Given the description of an element on the screen output the (x, y) to click on. 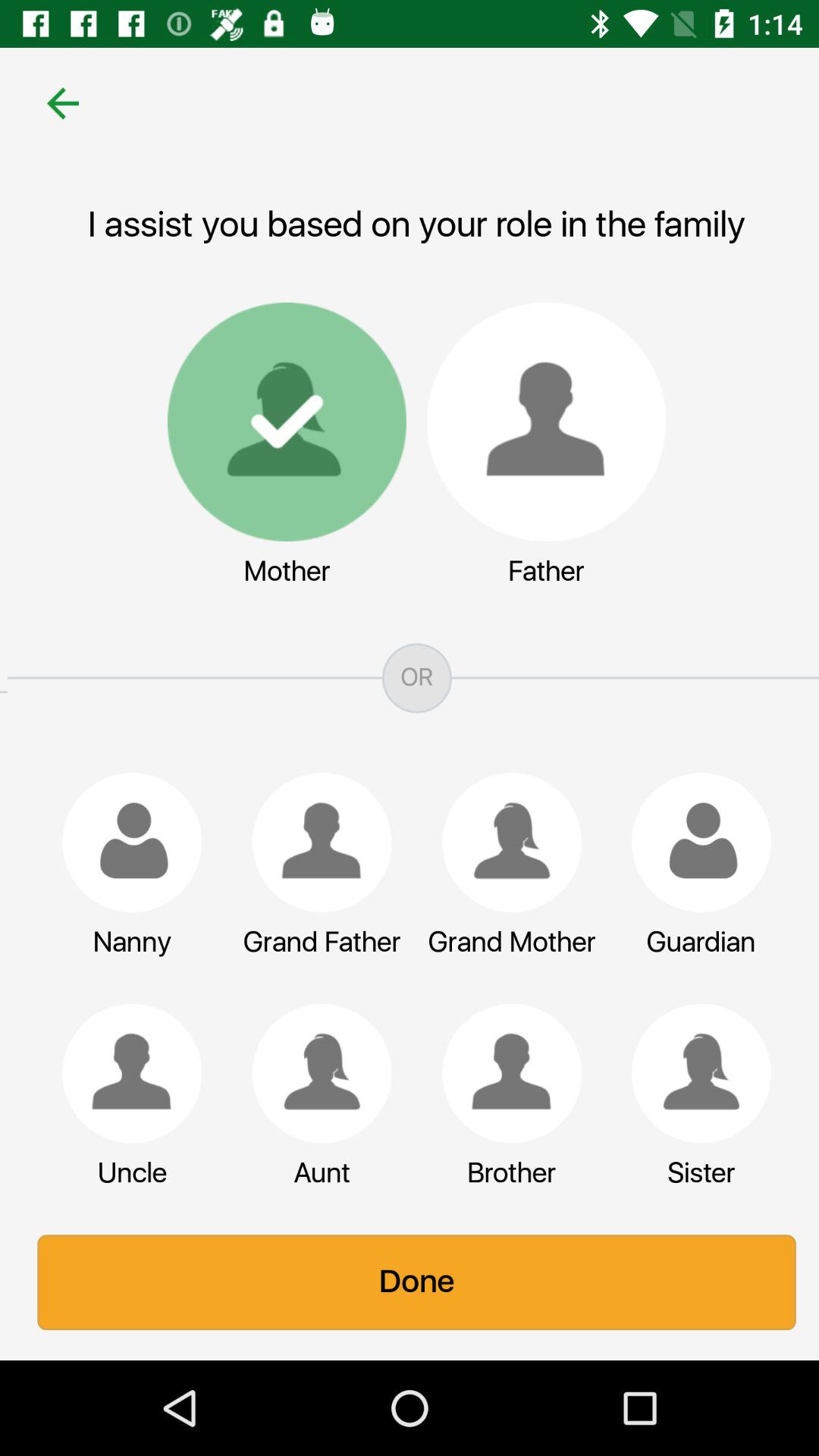
change family role (124, 1073)
